Given the description of an element on the screen output the (x, y) to click on. 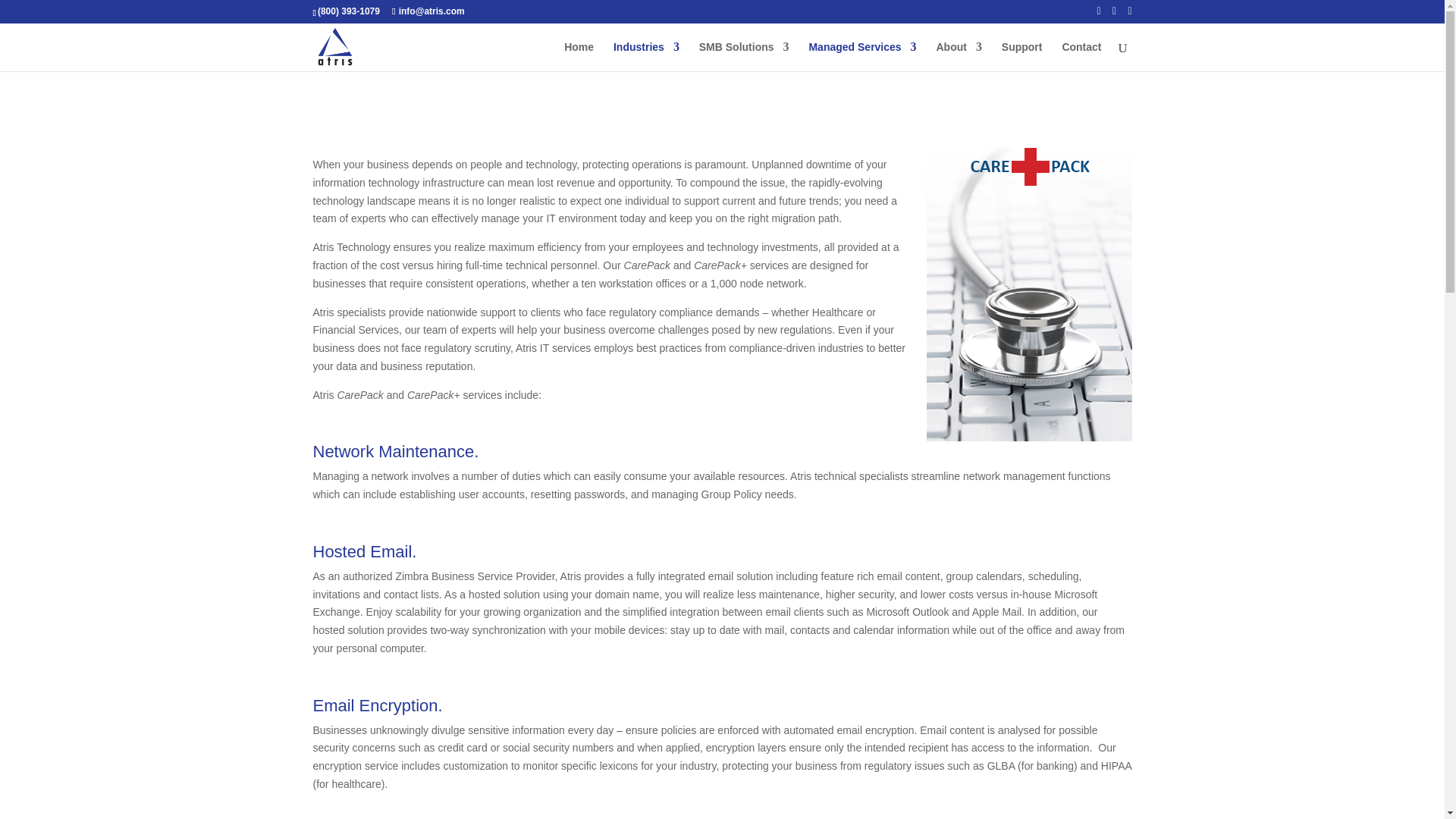
SMB Solutions (743, 56)
Home (579, 56)
Industries (645, 56)
Managed Services (861, 56)
